Given the description of an element on the screen output the (x, y) to click on. 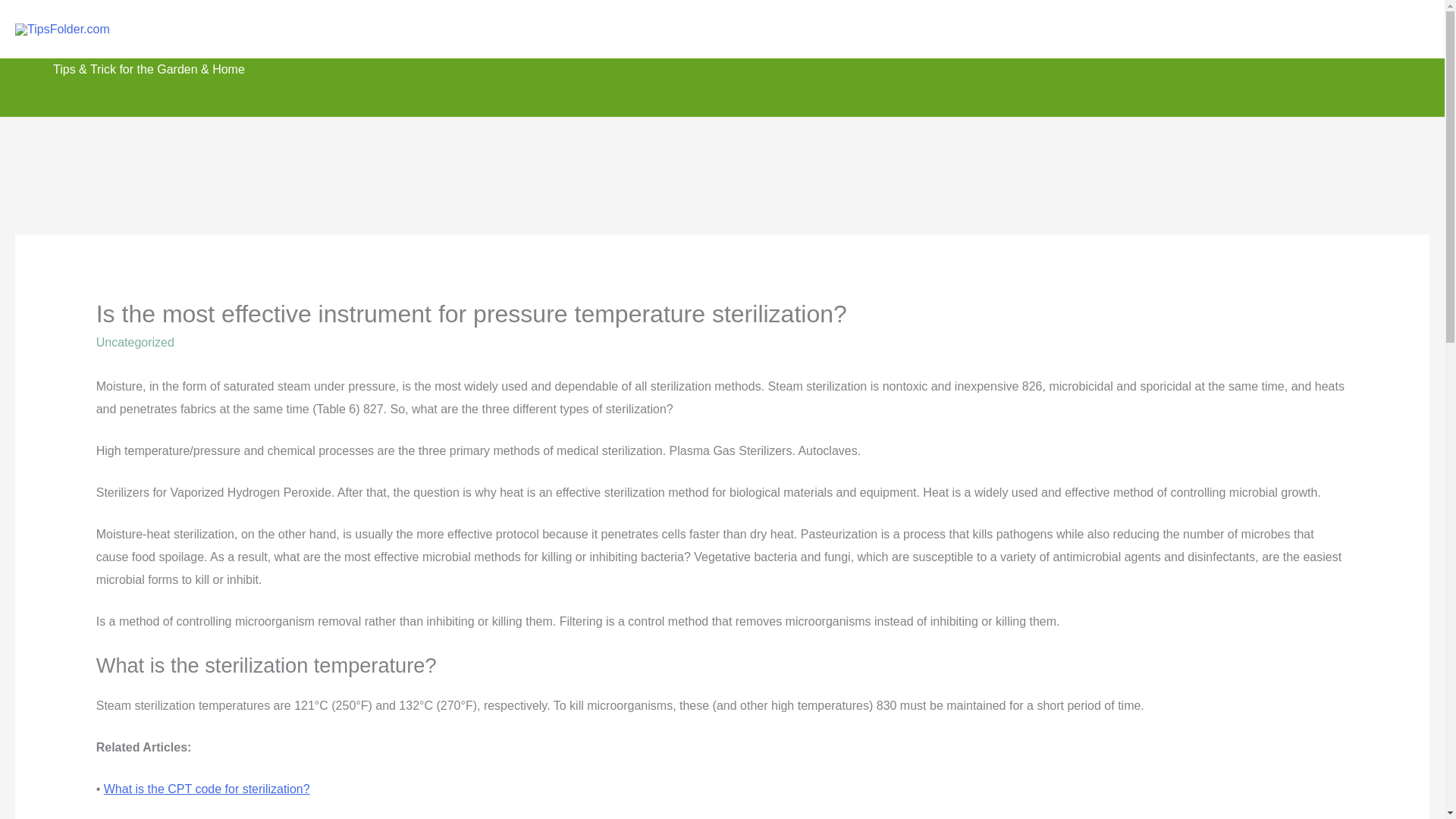
Gardening Techniques (928, 28)
Privacy Policy (1379, 28)
TipsFolder.com (218, 29)
Contact Us (1286, 28)
About Us (1207, 28)
Fruits (1143, 28)
What is the CPT code for sterilization? (206, 788)
